Given the description of an element on the screen output the (x, y) to click on. 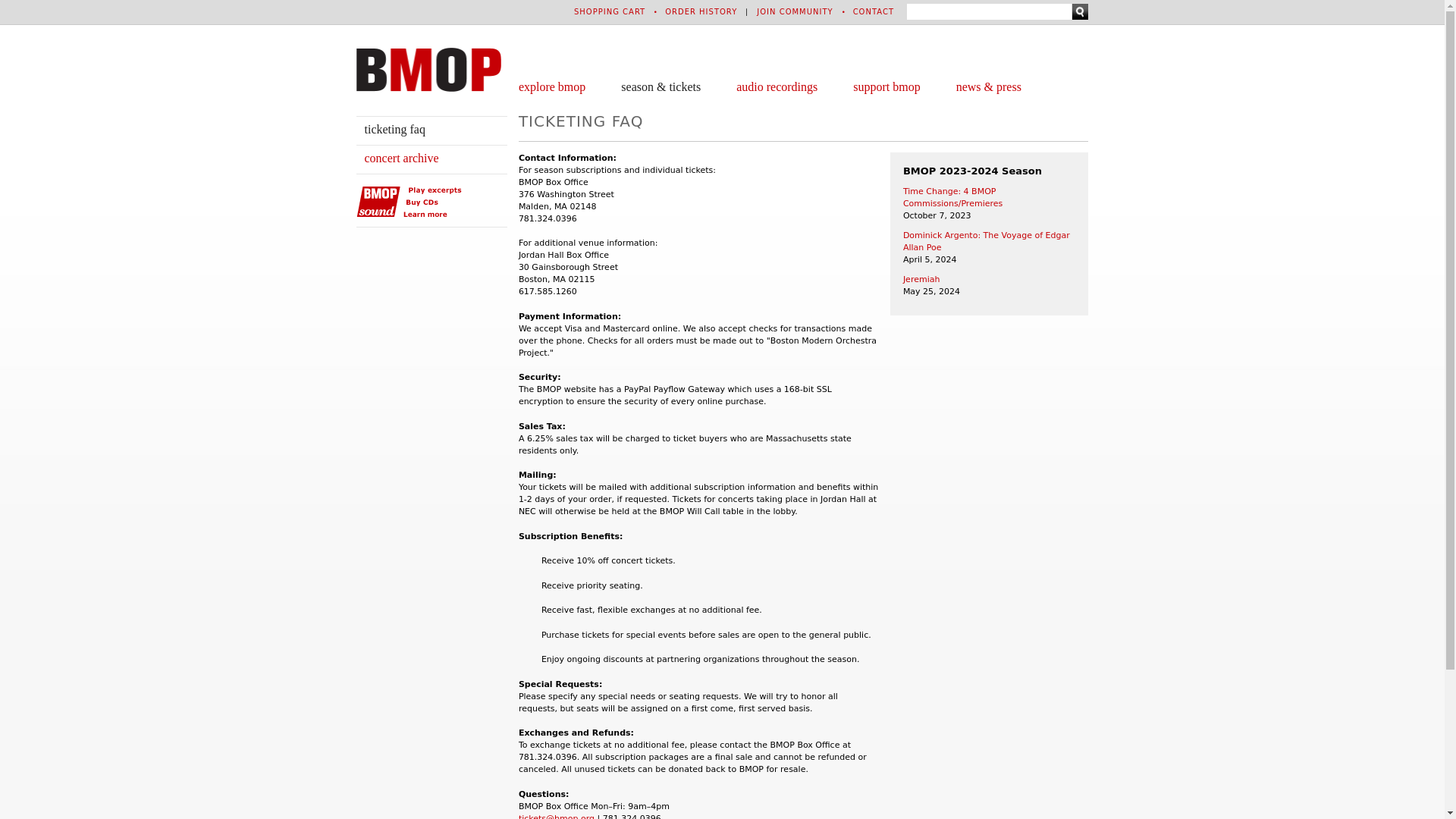
CONTACT (873, 11)
support bmop (886, 87)
Support BMOP (886, 87)
audio recordings (776, 87)
explore bmop (551, 87)
Dominick Argento: The Voyage of Edgar Allan Poe (986, 241)
Ticketing FAQ (394, 128)
Home (428, 69)
Search (1079, 11)
Jeremiah (921, 279)
ticketing faq (394, 128)
ORDER HISTORY (700, 11)
Enter the terms you wish to search for. (989, 11)
concert archive (401, 157)
Search (1079, 11)
